Given the description of an element on the screen output the (x, y) to click on. 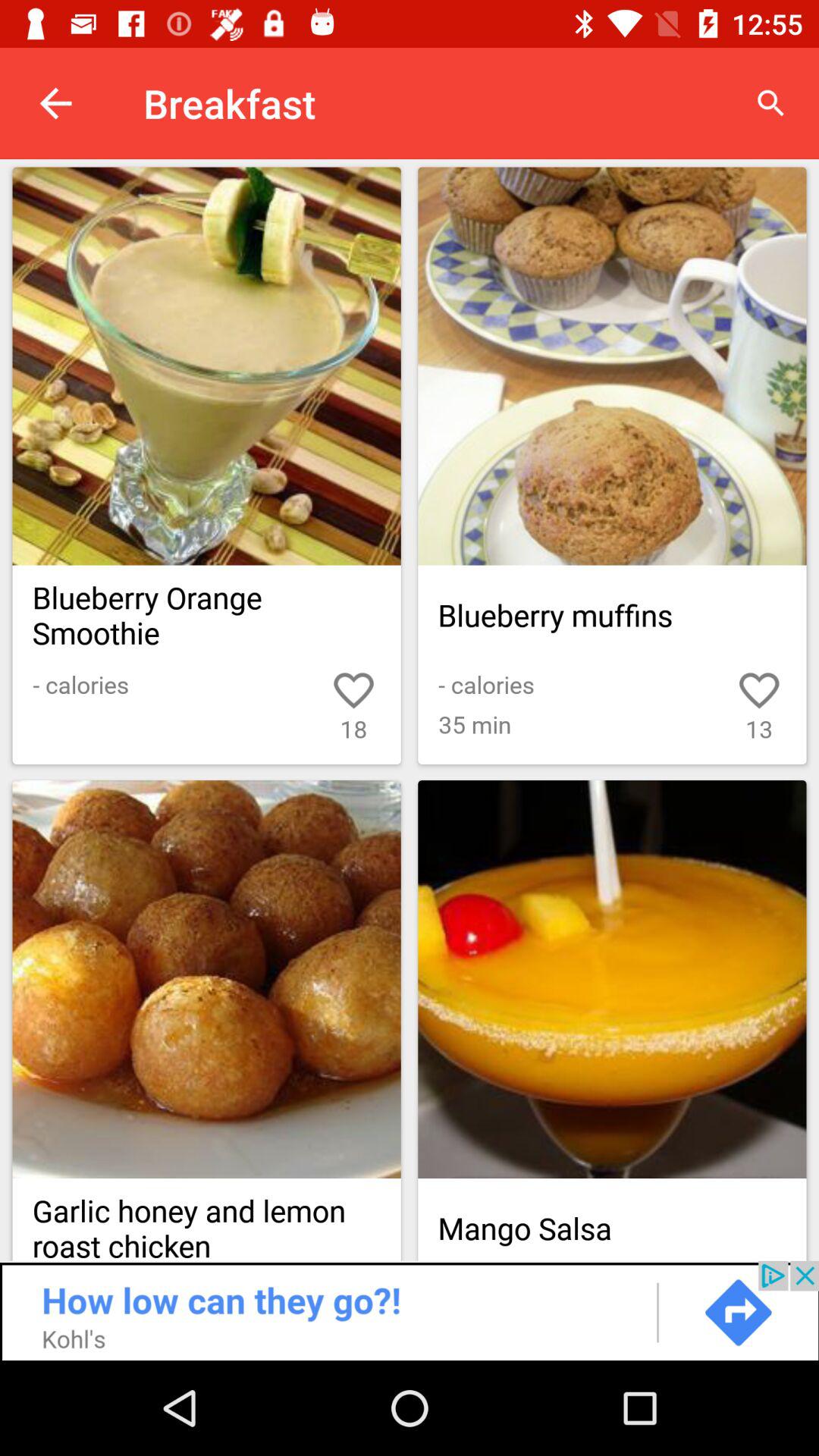
open recipe (206, 366)
